Given the description of an element on the screen output the (x, y) to click on. 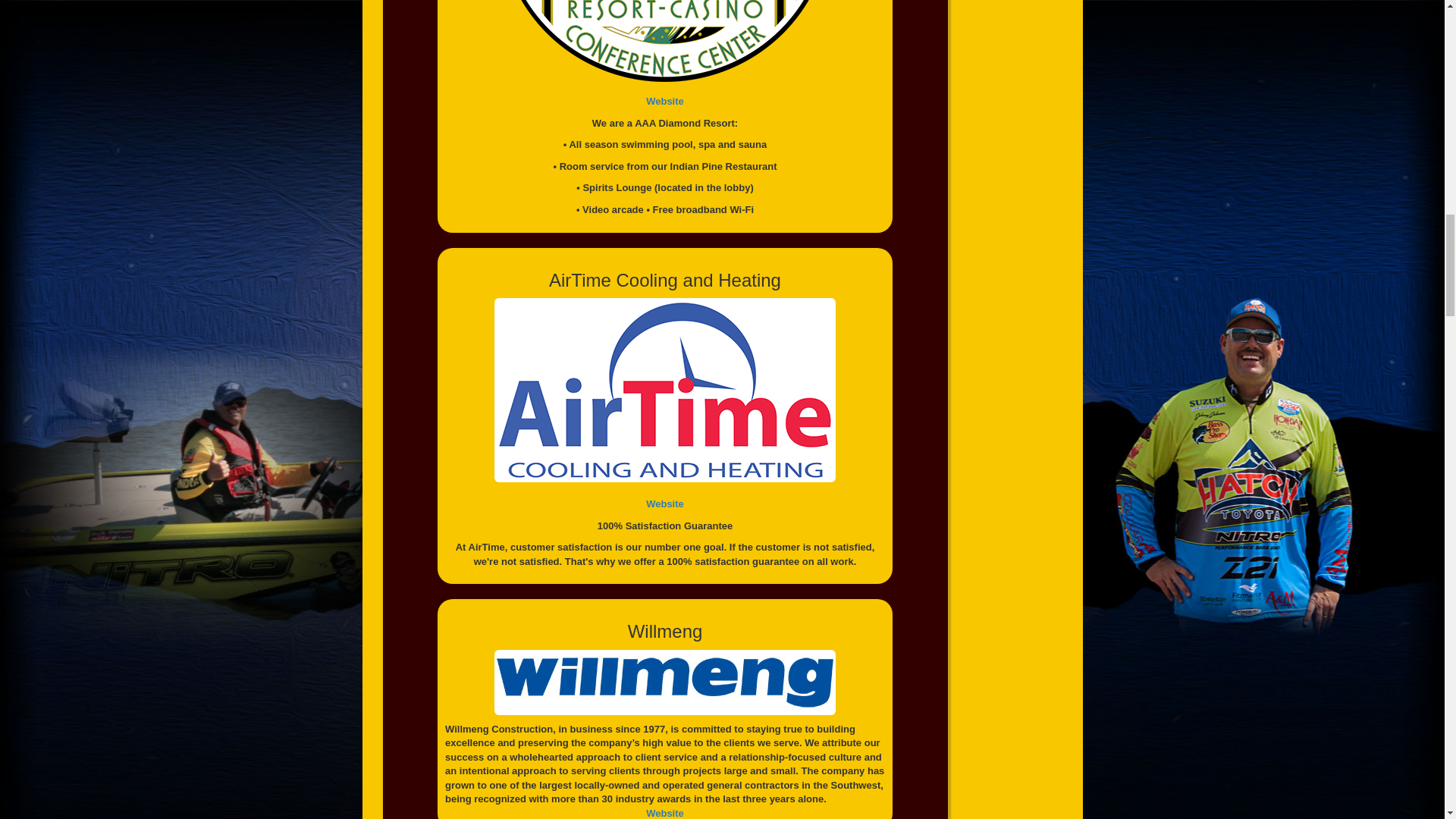
Website (665, 503)
Website (665, 813)
Website (665, 101)
